Given the description of an element on the screen output the (x, y) to click on. 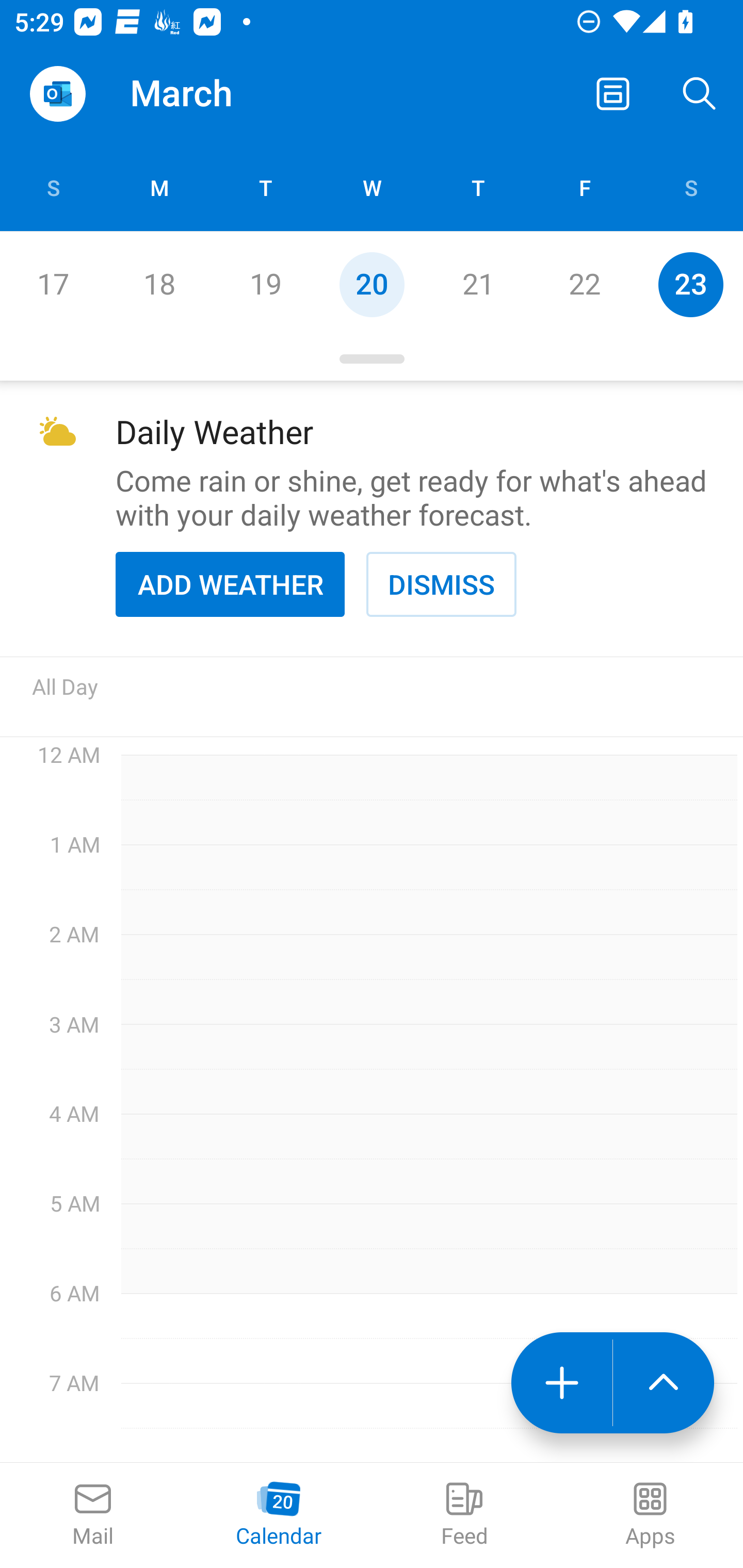
March March 2024, day picker (209, 93)
Switch away from Day view (612, 93)
Search, ,  (699, 93)
Open Navigation Drawer (57, 94)
17 Sunday, March 17 (53, 284)
18 Monday, March 18 (159, 284)
19 Tuesday, March 19 (265, 284)
20 Wednesday, March 20, today (371, 284)
21 Thursday, March 21 (477, 284)
22 Friday, March 22 (584, 284)
23 Saturday, March 23, Selected (690, 284)
Day picker (371, 359)
ADD WEATHER (230, 583)
DISMISS (440, 583)
New event (561, 1382)
launch the extended action menu (663, 1382)
Mail (92, 1515)
Feed (464, 1515)
Apps (650, 1515)
